Given the description of an element on the screen output the (x, y) to click on. 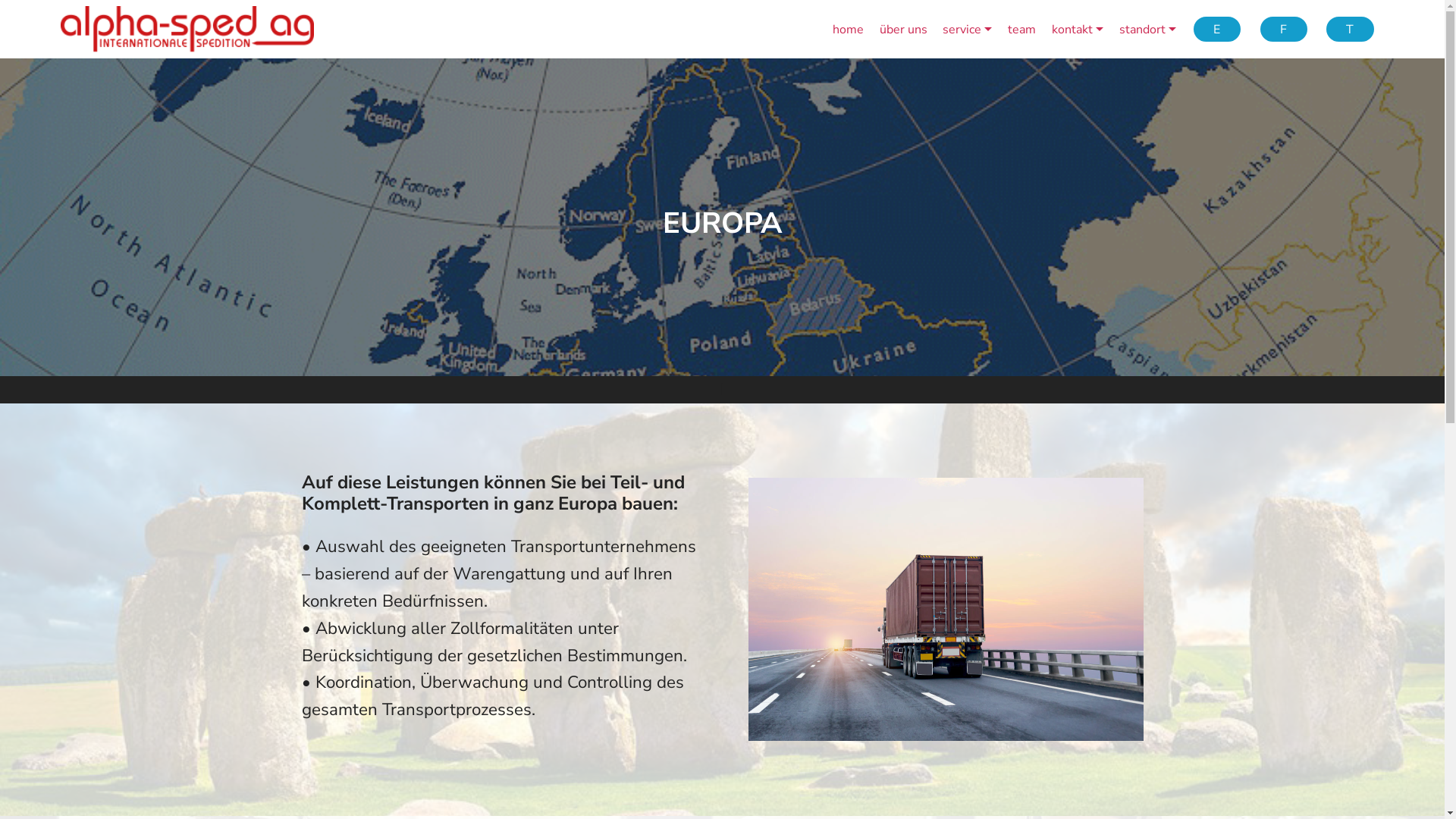
E Element type: text (1216, 28)
standort Element type: text (1147, 28)
team Element type: text (1021, 28)
service Element type: text (966, 28)
T Element type: text (1350, 28)
F Element type: text (1283, 28)
kontakt Element type: text (1077, 28)
home Element type: text (847, 28)
